Given the description of an element on the screen output the (x, y) to click on. 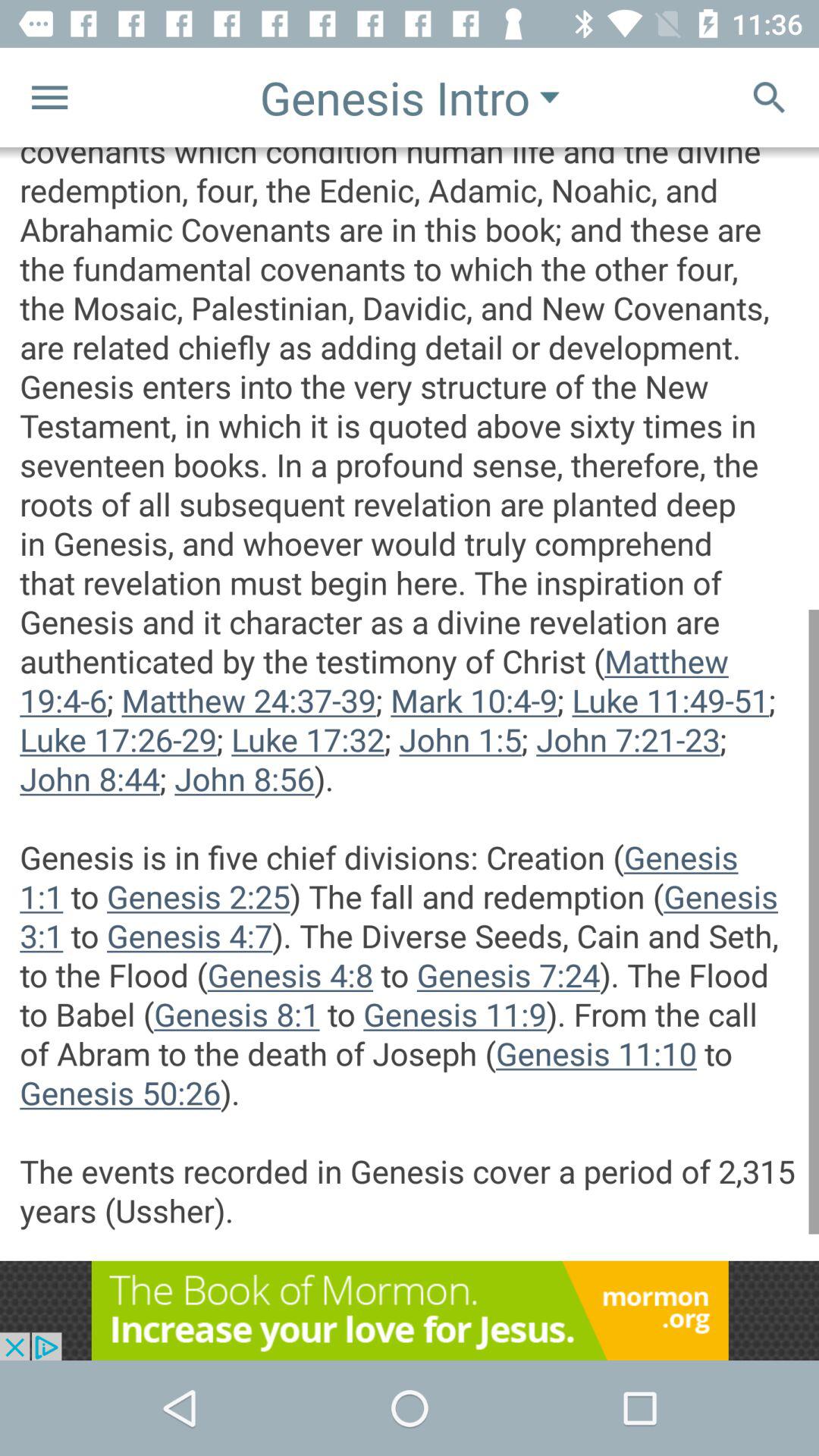
view advertisement (409, 1310)
